Given the description of an element on the screen output the (x, y) to click on. 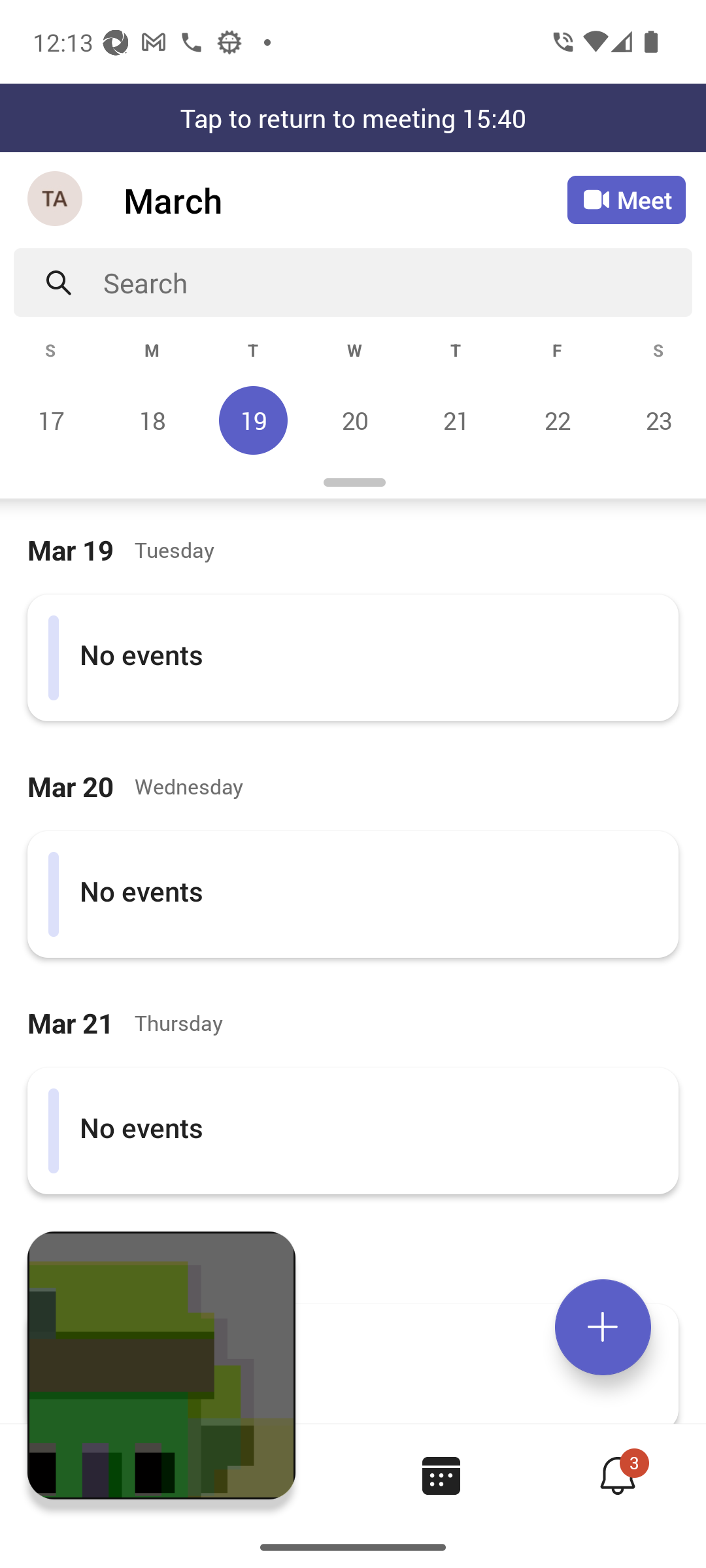
Tap to return to meeting 15:40 (353, 117)
Navigation (56, 199)
Meet Meet now or join with an ID (626, 199)
March March Calendar Agenda View (345, 199)
Search (397, 281)
Sunday, March 17 17 (50, 420)
Monday, March 18 18 (151, 420)
Tuesday, March 19, Selected 19 (253, 420)
Wednesday, March 20 20 (354, 420)
Thursday, March 21 21 (455, 420)
Friday, March 22 22 (556, 420)
Saturday, March 23 23 (656, 420)
Expand meetings menu (602, 1327)
Calendar tab, 3 of 4 (441, 1475)
Activity tab,4 of 4, not selected, 3 new 3 (617, 1475)
